Given the description of an element on the screen output the (x, y) to click on. 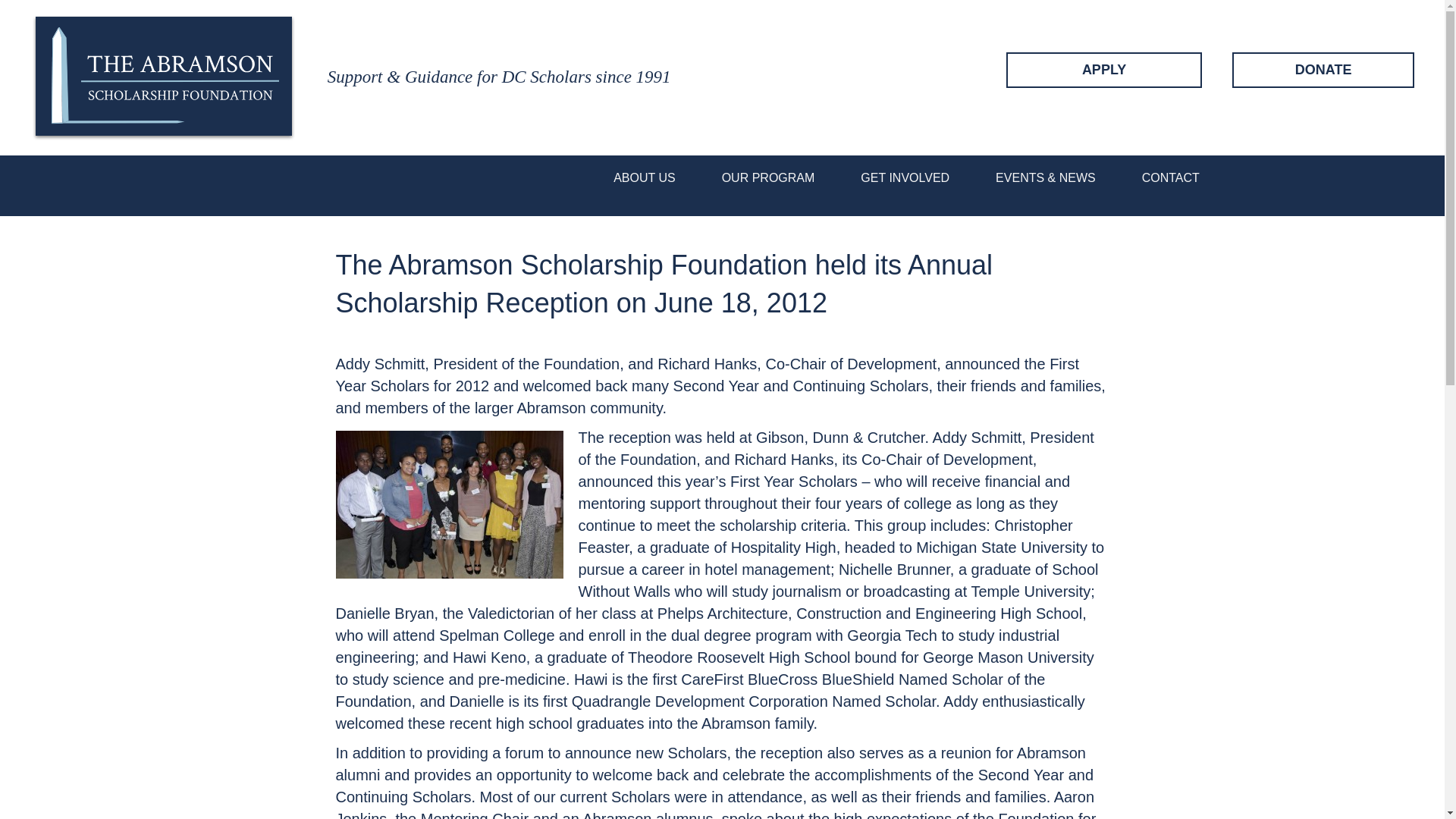
APPLY (1104, 69)
CONTACT (1171, 177)
GET INVOLVED (905, 177)
ABOUT US (644, 177)
DONATE (1322, 69)
LOGO1 (163, 77)
2012 Abramson Scholars (448, 504)
OUR PROGRAM (768, 177)
